Given the description of an element on the screen output the (x, y) to click on. 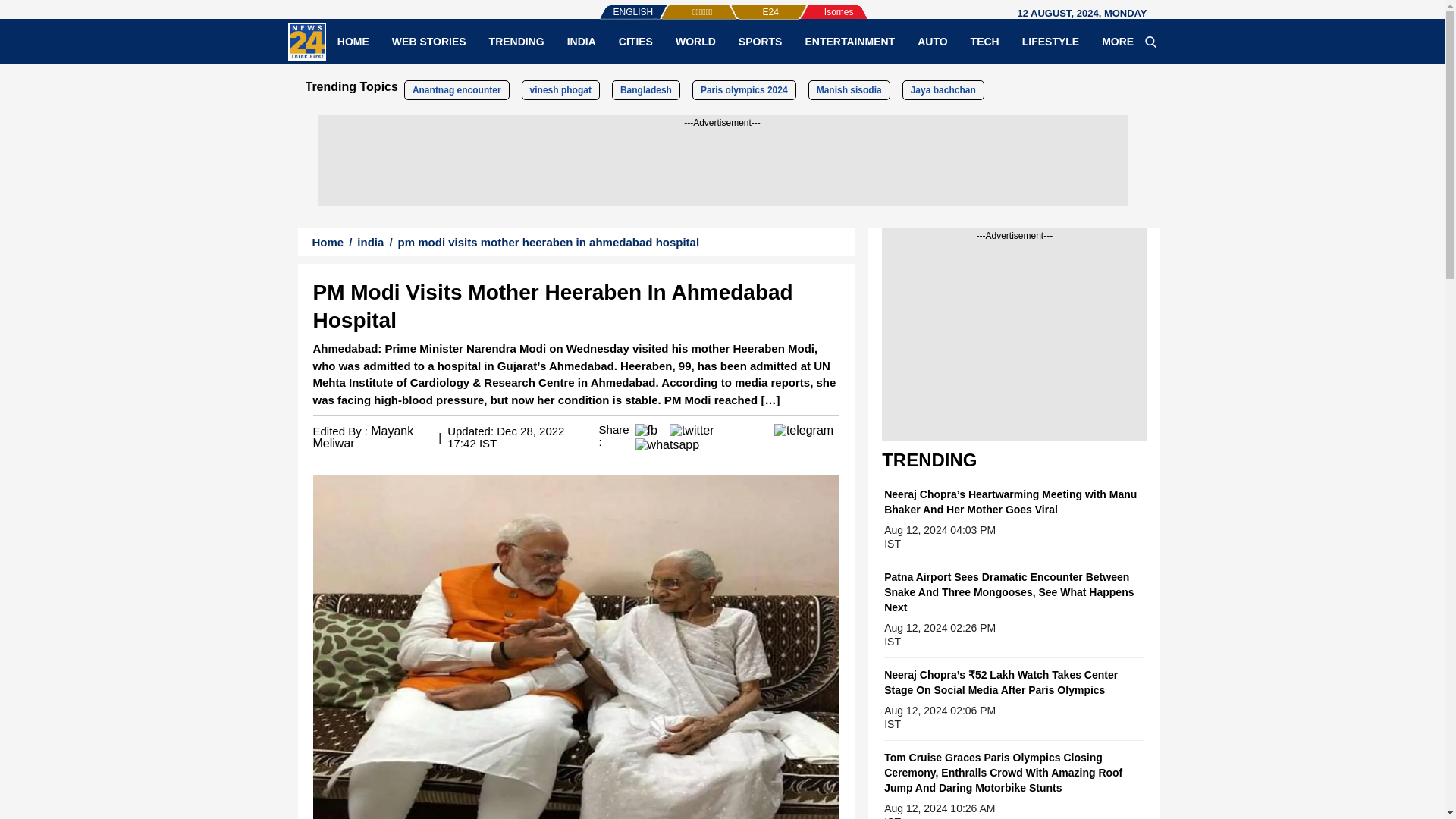
TRENDING (516, 41)
SPORTS (759, 41)
TECH (984, 41)
WEB STORIES (428, 41)
E24 (744, 4)
ENTERTAINMENT (849, 41)
AUTO (931, 41)
Isomes (814, 4)
INDIA (581, 41)
ENGLISH (601, 4)
